Given the description of an element on the screen output the (x, y) to click on. 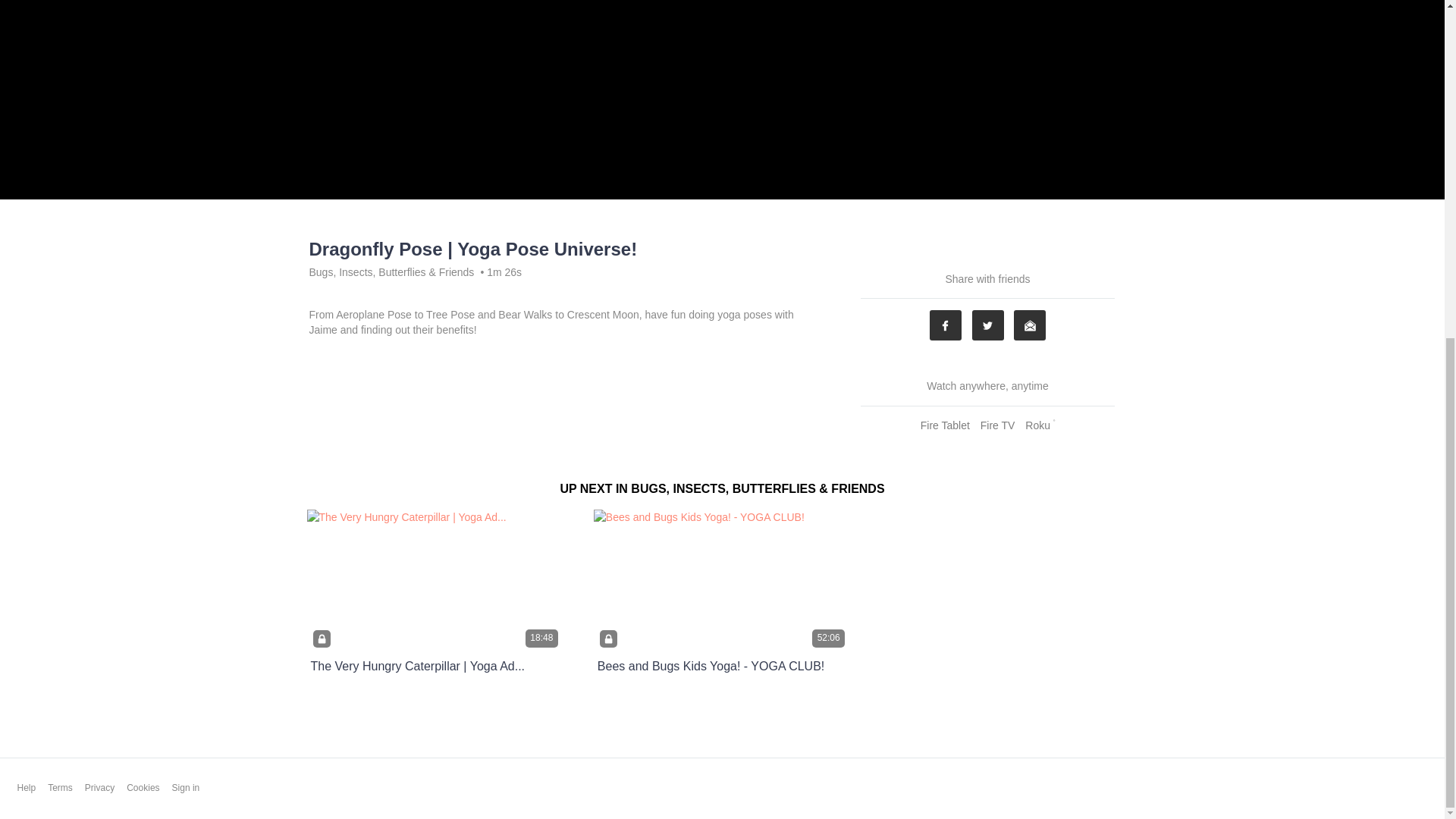
Facebook (945, 325)
Email (1029, 325)
Fire Tablet (945, 425)
Bees and Bugs Kids Yoga! - YOGA CLUB! (710, 666)
18:48 (434, 580)
Fire TV (997, 425)
52:06 (722, 580)
Bees and Bugs Kids Yoga! - YOGA CLUB! (710, 666)
Twitter (988, 325)
